Given the description of an element on the screen output the (x, y) to click on. 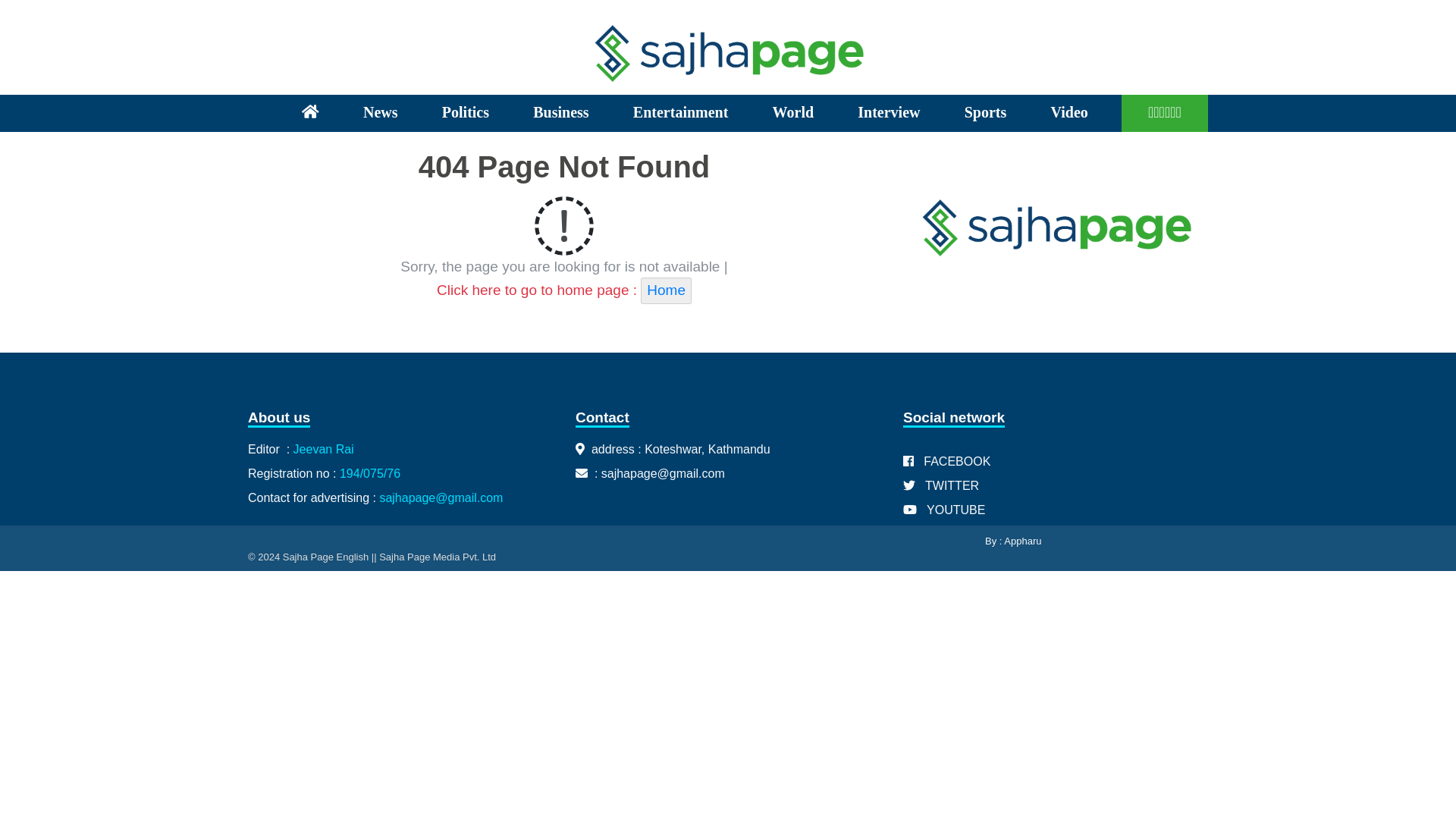
home (309, 113)
By : Appharu (1013, 541)
  FACEBOOK (1055, 455)
Click here to go to home page : Home (563, 289)
  YOUTUBE (1055, 510)
Business (561, 113)
World (793, 113)
Entertainment (681, 113)
News (380, 113)
Video (1068, 113)
  TWITTER (1055, 485)
Home (665, 290)
Interview (888, 113)
Sports (985, 113)
Politics (465, 113)
